Given the description of an element on the screen output the (x, y) to click on. 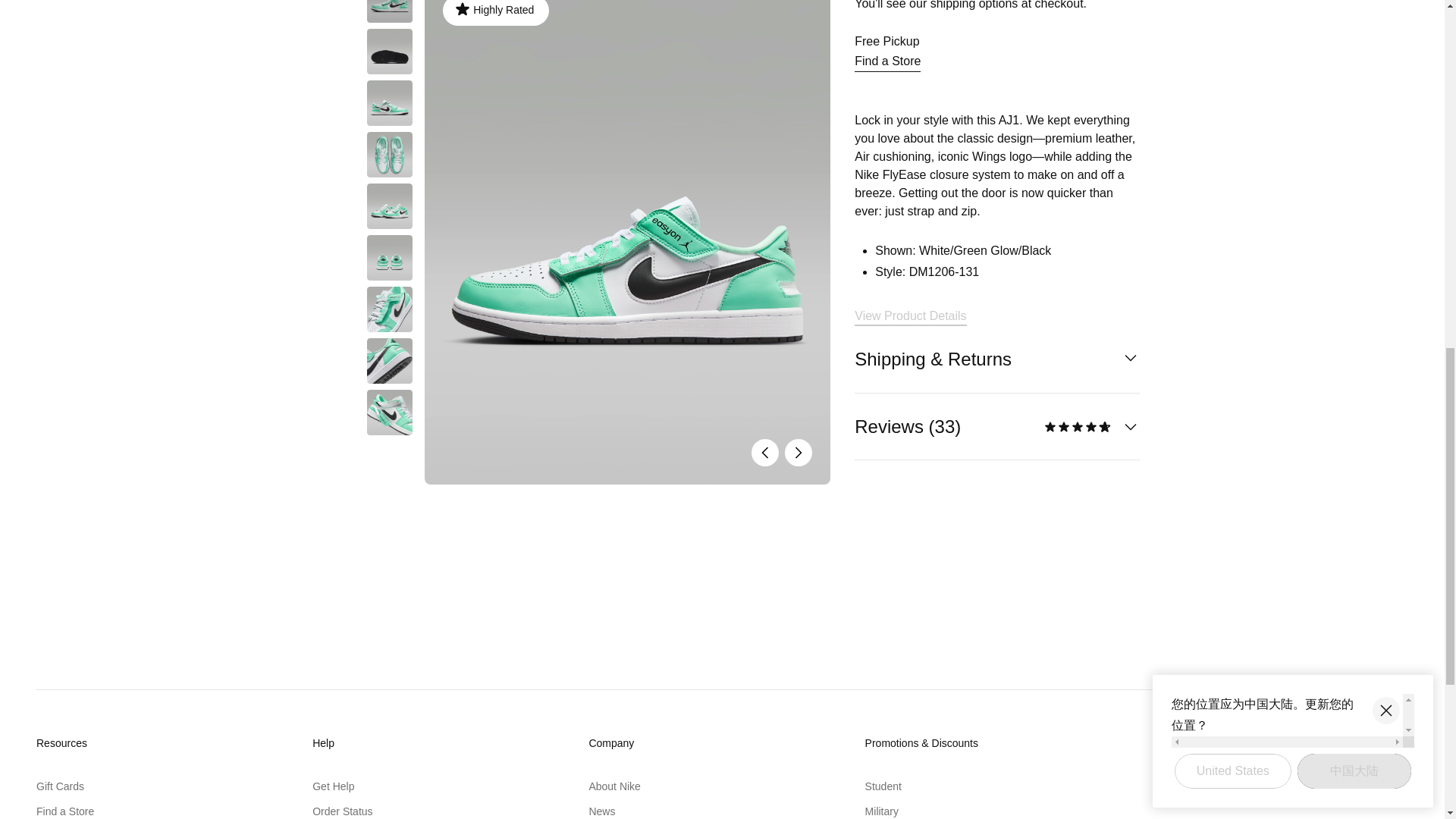
Selected Location: United States (1368, 743)
4.7 Stars (1077, 427)
